Given the description of an element on the screen output the (x, y) to click on. 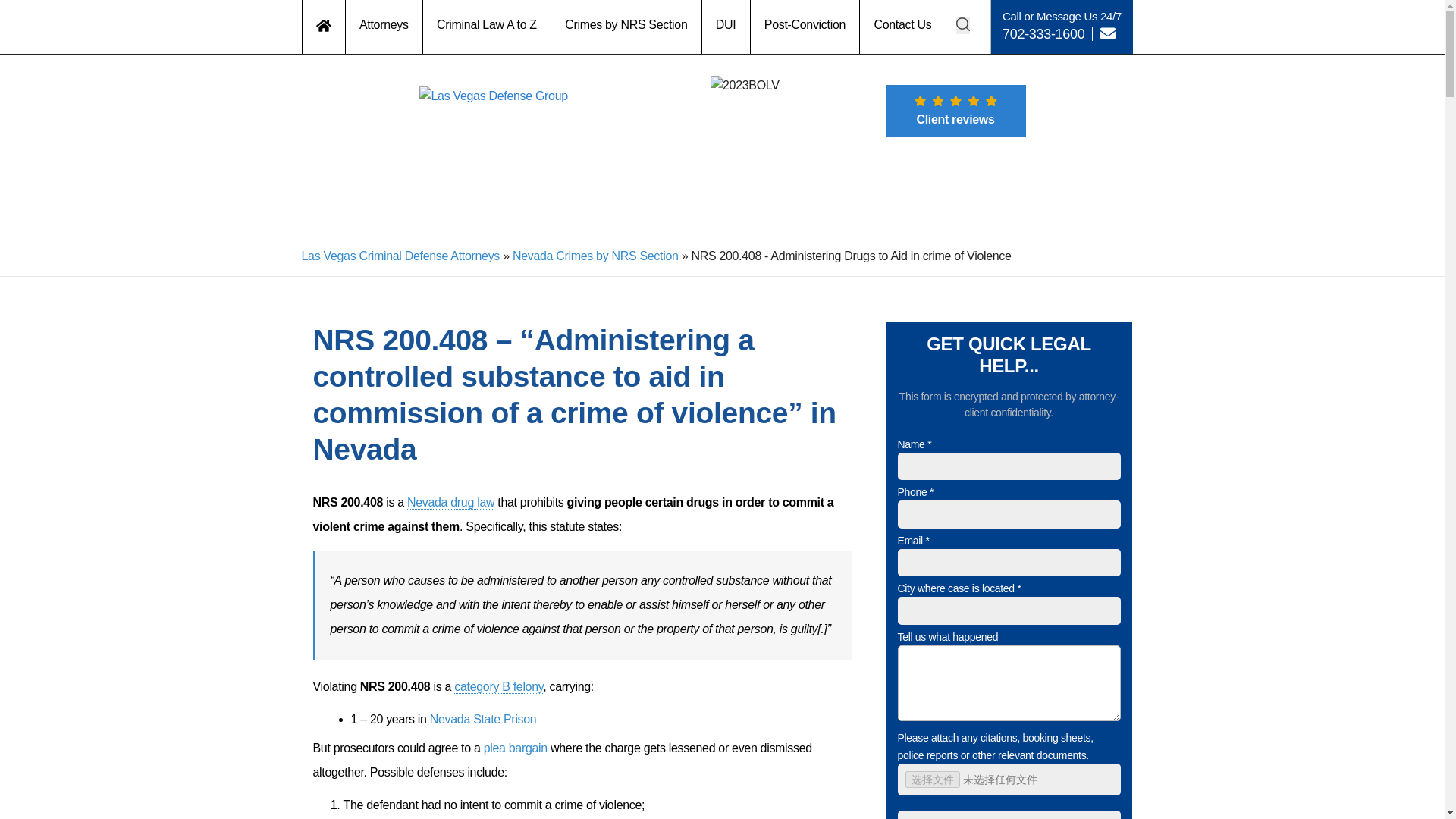
Post-Conviction (805, 27)
Criminal Law A to Z (487, 27)
Nevada drug law (451, 502)
category B felony (498, 686)
DUI (726, 27)
Contact Us (902, 27)
702-333-1600 (1043, 33)
Attorneys (384, 27)
Nevada Crimes by NRS Section (595, 255)
Las Vegas Criminal Defense Attorneys (400, 255)
Nevada State Prison (483, 719)
Crimes by NRS Section (626, 27)
Nevada Crimes by NRS Section (595, 255)
Las Vegas Criminal Defense Attorneys (400, 255)
Client reviews (955, 111)
